Given the description of an element on the screen output the (x, y) to click on. 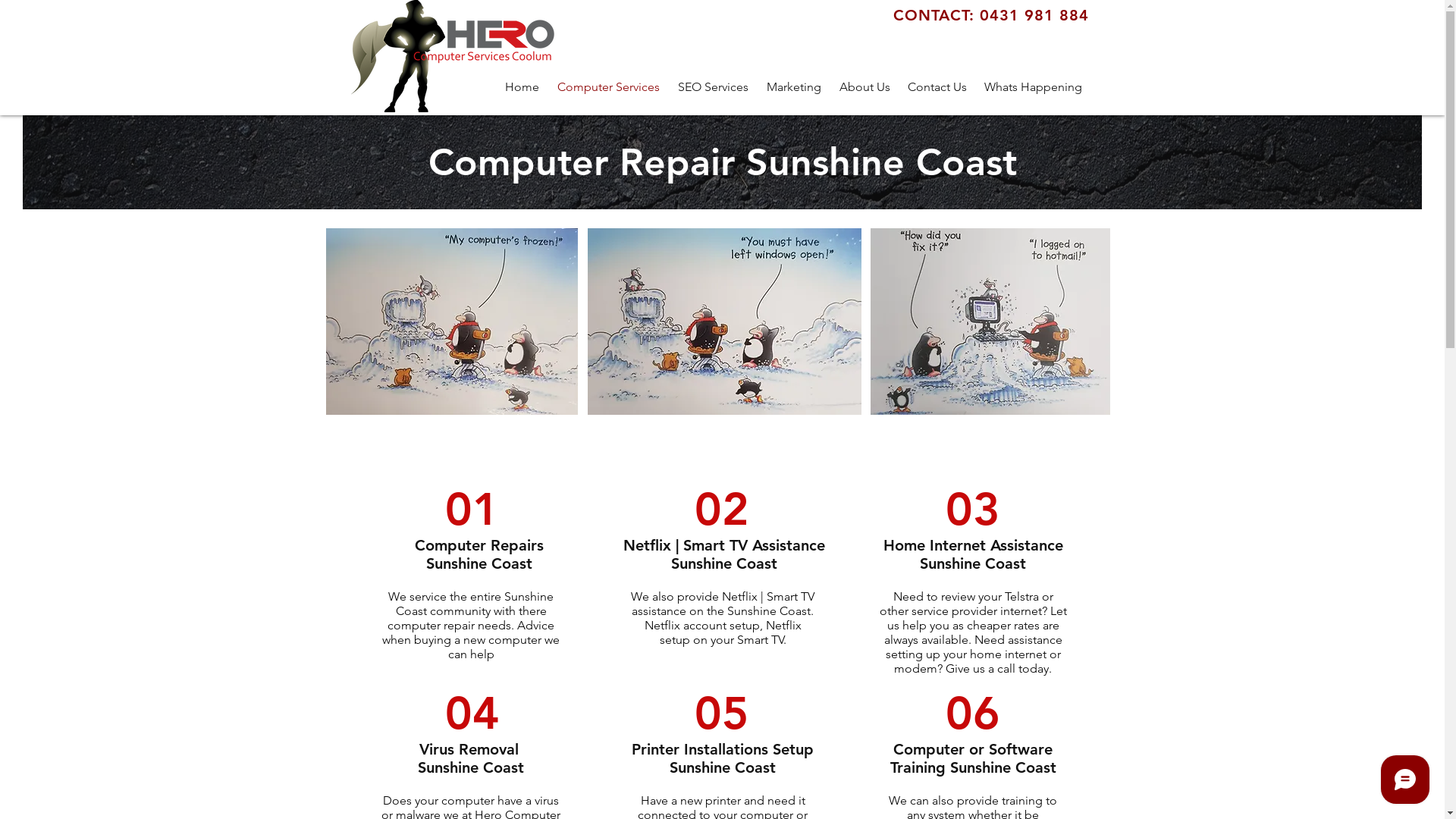
About Us Element type: text (863, 86)
Home Element type: text (521, 86)
HERO Computer Services Coolum Element type: text (457, 24)
Computer Services Element type: text (607, 86)
SEO Services Element type: text (712, 86)
Whats Happening Element type: text (1032, 86)
Contact Us Element type: text (937, 86)
